Given the description of an element on the screen output the (x, y) to click on. 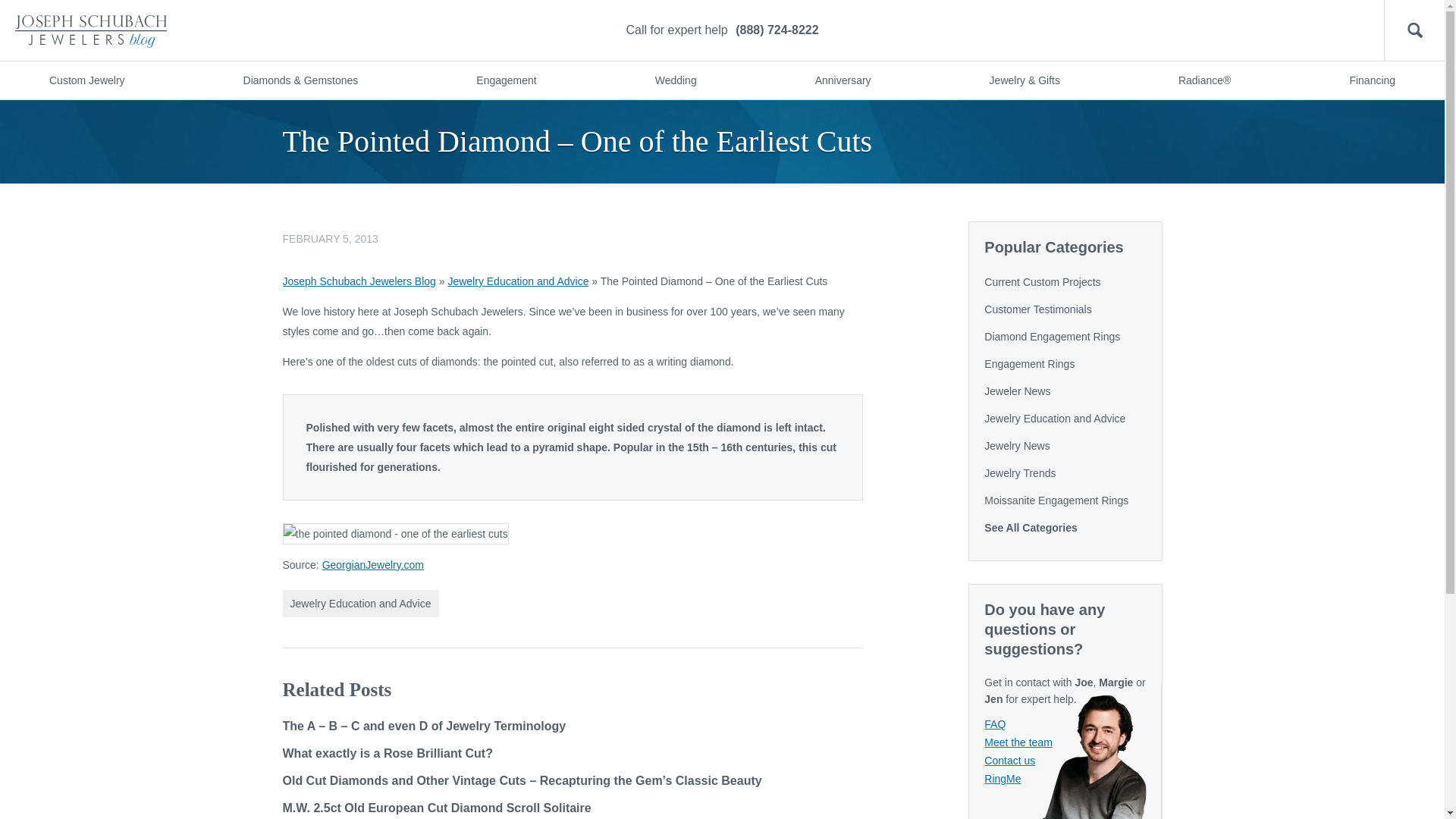
Wedding (675, 80)
Custom Jewelry (86, 80)
Engagement (505, 80)
What exactly is a Rose Brilliant Cut? (387, 753)
M.W. 2.5ct Old European Cut Diamond Scroll Solitaire (436, 807)
